Given the description of an element on the screen output the (x, y) to click on. 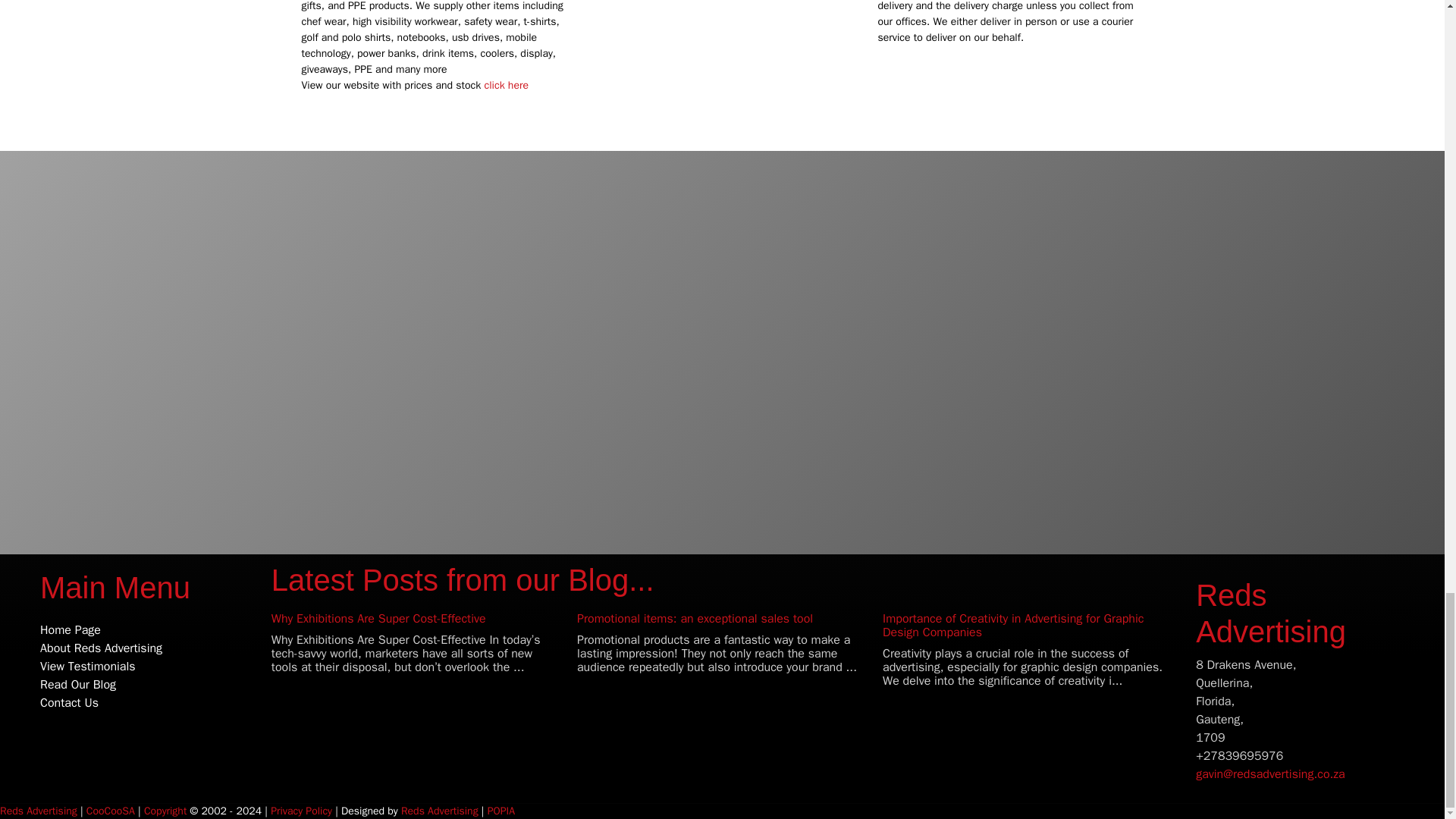
Reds Advertising (38, 810)
Promotional items: an exceptional sales tool (694, 618)
Website Built with CooCoo Smart Site (110, 810)
Reds Advertising (1270, 613)
Terms and Conditions (165, 810)
Privacy Policy (300, 810)
Why Exhibitions Are Super Cost-Effective (378, 618)
